Given the description of an element on the screen output the (x, y) to click on. 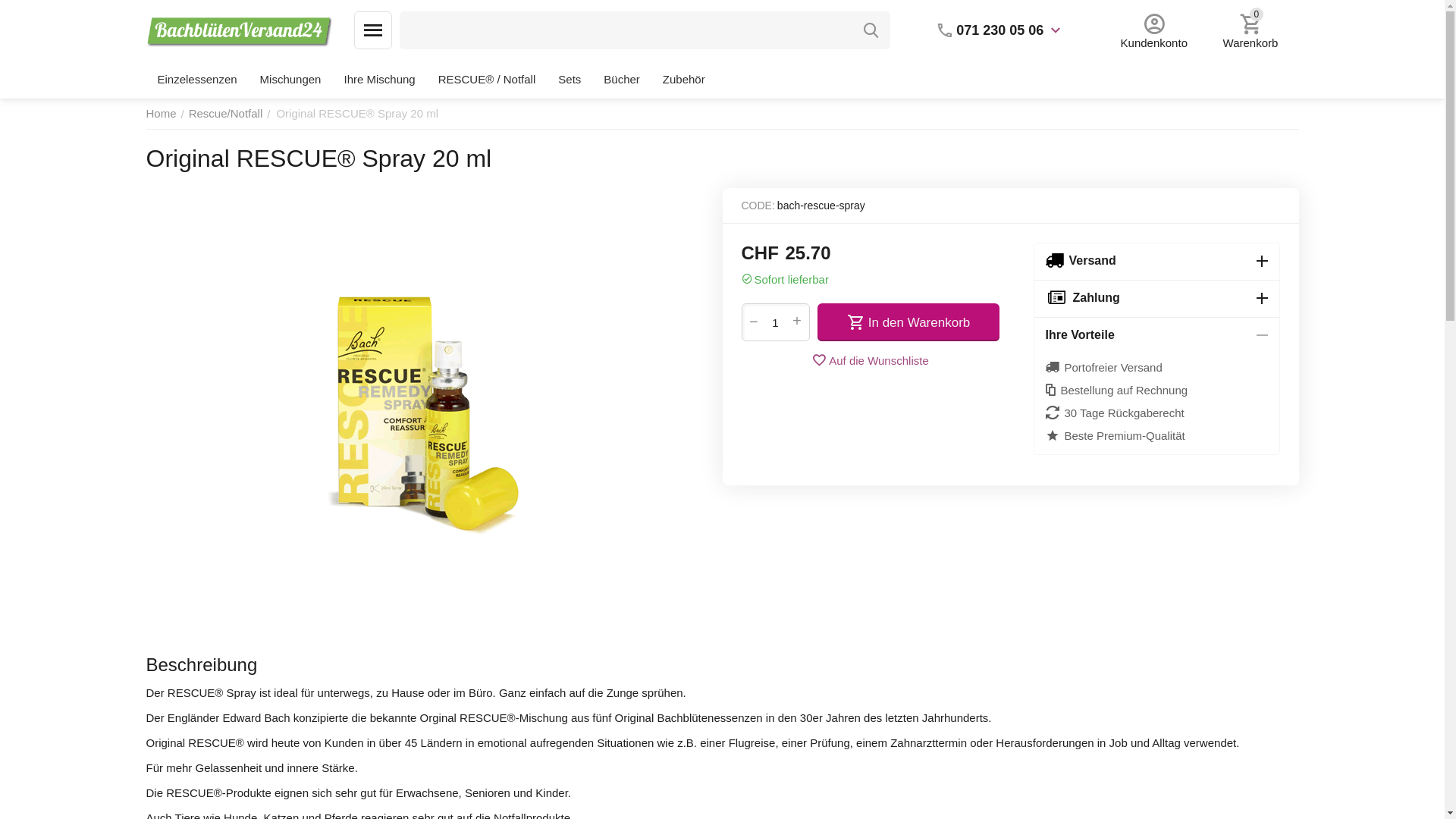
Sets Element type: text (569, 79)
Search Element type: hover (871, 30)
Rescue/Notfall Element type: text (225, 113)
+ Element type: text (796, 322)
In den Warenkorb Element type: text (908, 322)
Home Element type: text (160, 113)
Kundenkonto Element type: text (1153, 30)
Einzelessenzen Element type: text (196, 79)
Mischungen Element type: text (290, 79)
Ihre Mischung Element type: text (379, 79)
0
Warenkorb Element type: text (1249, 30)
071 230 05 06 Element type: text (999, 29)
Auf die Wunschliste Element type: text (869, 359)
